Given the description of an element on the screen output the (x, y) to click on. 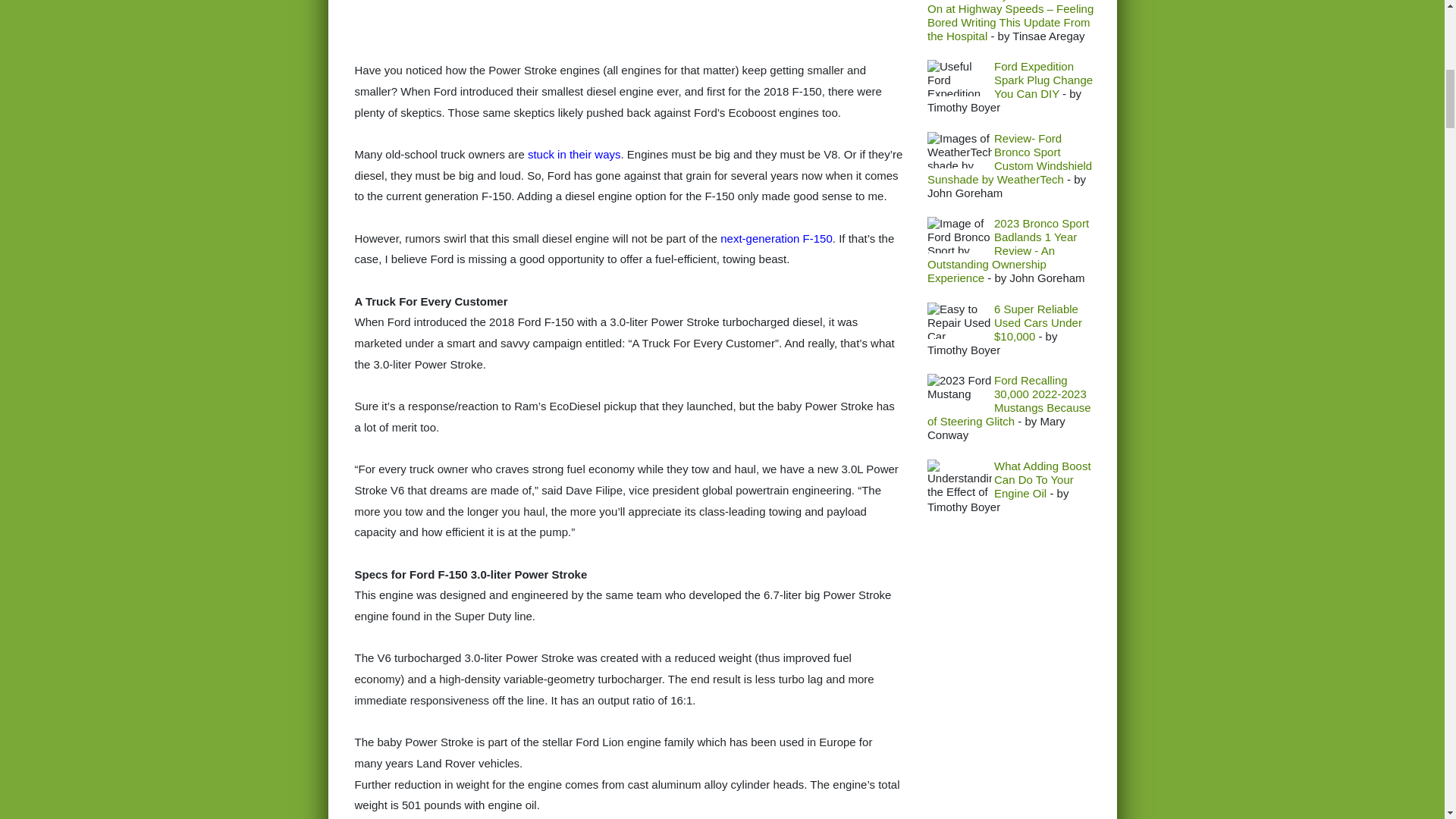
stuck in their ways (574, 154)
next-generation F-150 (776, 237)
